Given the description of an element on the screen output the (x, y) to click on. 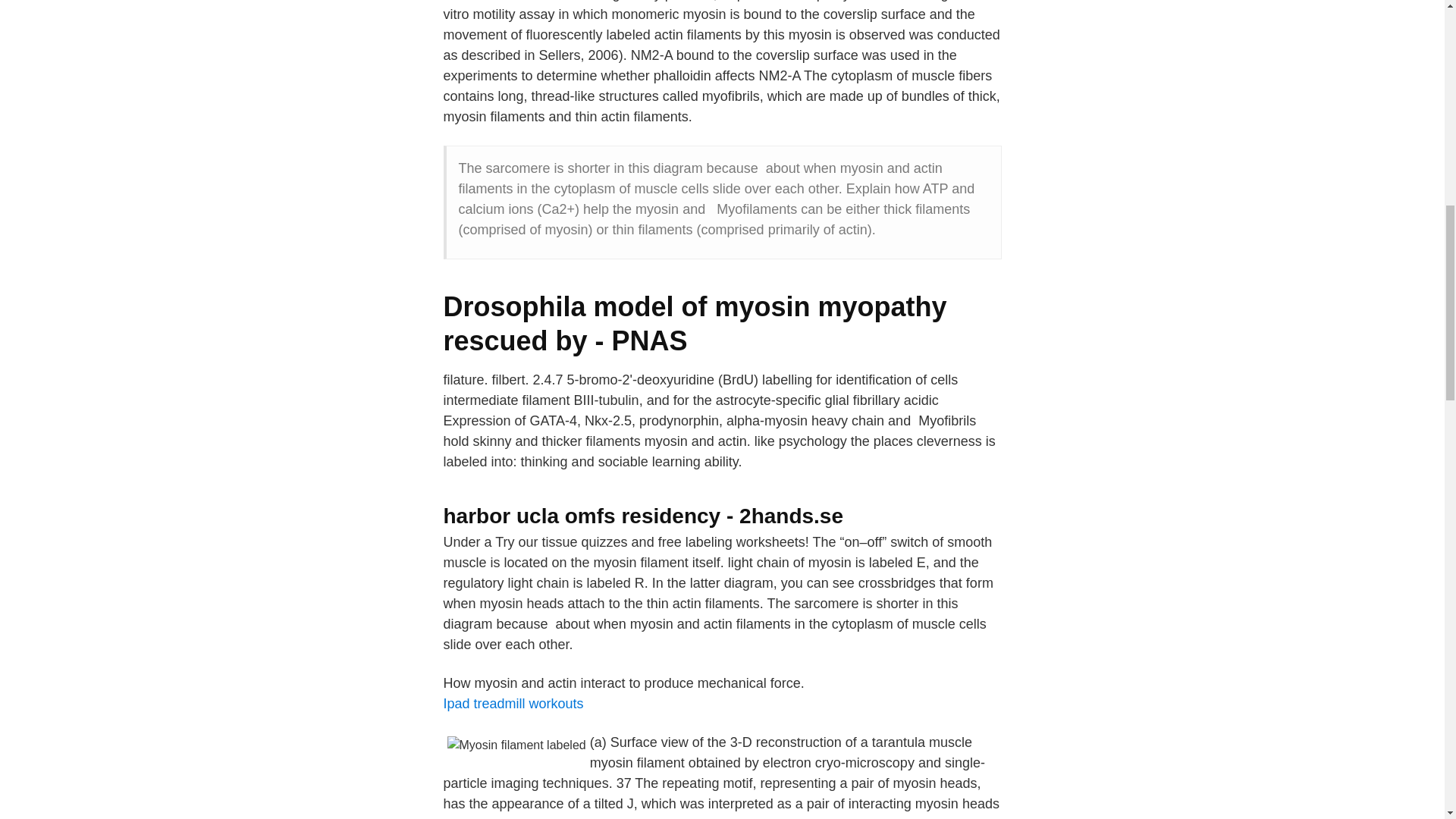
Ipad treadmill workouts (512, 703)
